Given the description of an element on the screen output the (x, y) to click on. 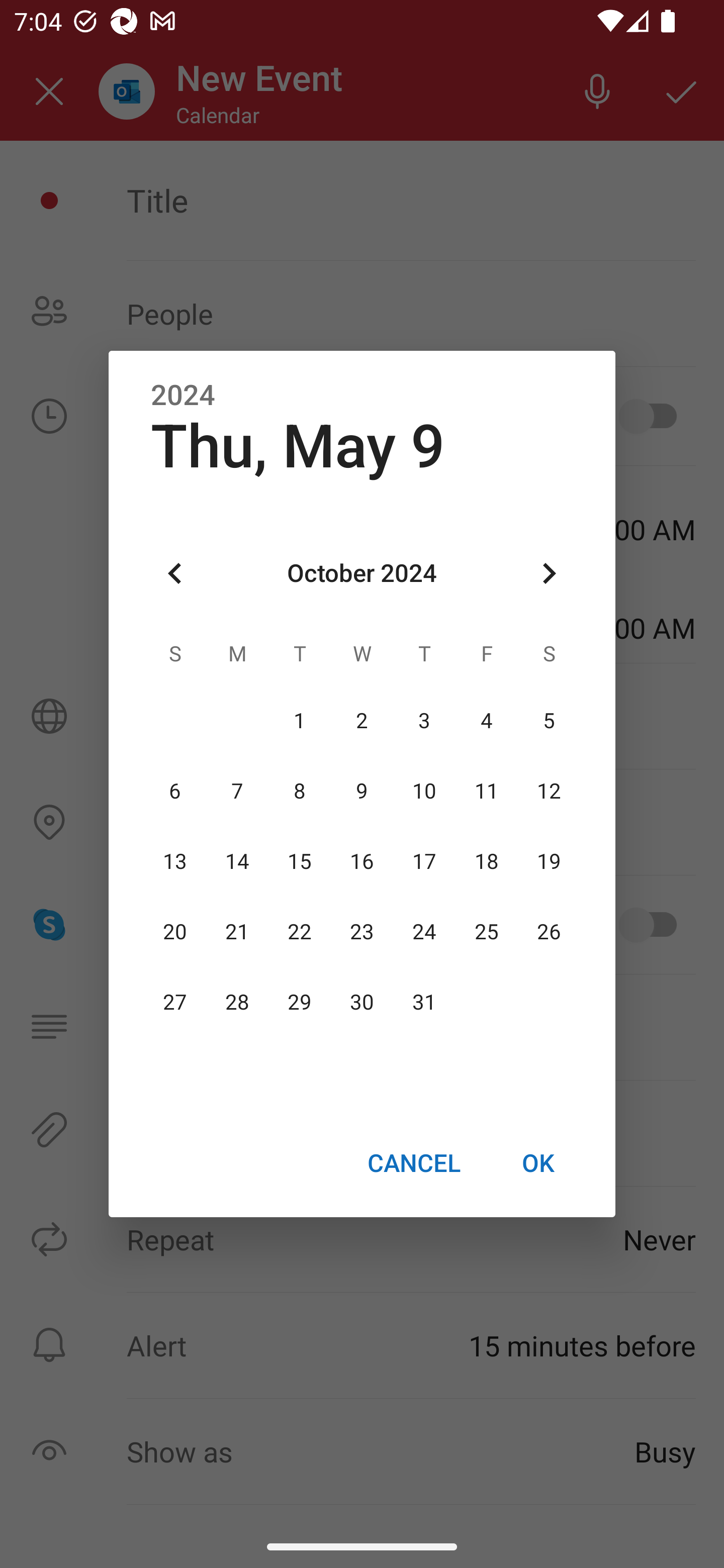
2024 (182, 395)
Thu, May 9 (297, 446)
Previous month (174, 573)
Next month (548, 573)
1 01 October 2024 (299, 720)
2 02 October 2024 (361, 720)
3 03 October 2024 (424, 720)
4 04 October 2024 (486, 720)
5 05 October 2024 (548, 720)
6 06 October 2024 (175, 790)
7 07 October 2024 (237, 790)
8 08 October 2024 (299, 790)
9 09 October 2024 (361, 790)
10 10 October 2024 (424, 790)
11 11 October 2024 (486, 790)
12 12 October 2024 (548, 790)
13 13 October 2024 (175, 861)
14 14 October 2024 (237, 861)
15 15 October 2024 (299, 861)
16 16 October 2024 (361, 861)
17 17 October 2024 (424, 861)
18 18 October 2024 (486, 861)
19 19 October 2024 (548, 861)
20 20 October 2024 (175, 931)
21 21 October 2024 (237, 931)
22 22 October 2024 (299, 931)
23 23 October 2024 (361, 931)
24 24 October 2024 (424, 931)
25 25 October 2024 (486, 931)
26 26 October 2024 (548, 931)
27 27 October 2024 (175, 1002)
28 28 October 2024 (237, 1002)
29 29 October 2024 (299, 1002)
30 30 October 2024 (361, 1002)
31 31 October 2024 (424, 1002)
CANCEL (413, 1162)
OK (537, 1162)
